Given the description of an element on the screen output the (x, y) to click on. 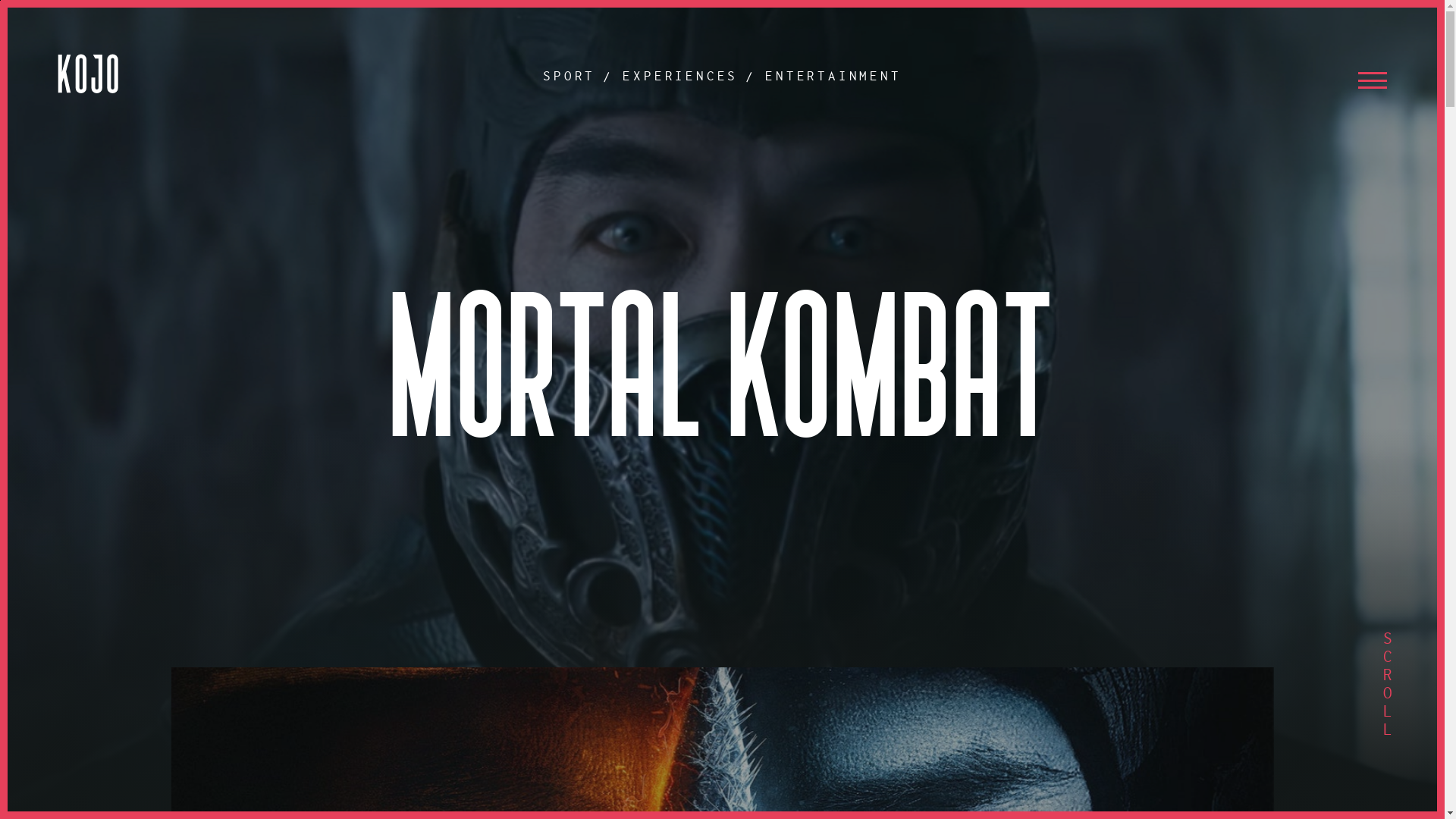
CAREERS Element type: text (256, 384)
SCROLL Element type: text (1386, 683)
EXPERIENCES Element type: text (679, 75)
SPORT Element type: text (256, 268)
INSTAGRAM Element type: text (1306, 239)
CONTACT Element type: text (256, 412)
ENTERTAINMENT Element type: text (256, 326)
TWITTER Element type: text (1306, 326)
ABOUT US Element type: text (256, 355)
ENTERTAINMENT Element type: text (833, 75)
LINKEDIN Element type: text (1306, 297)
EXPERIENCES Element type: text (256, 297)
SPORT Element type: text (569, 75)
SHOWREEL Element type: text (256, 239)
FACEBOOK Element type: text (1306, 268)
